Given the description of an element on the screen output the (x, y) to click on. 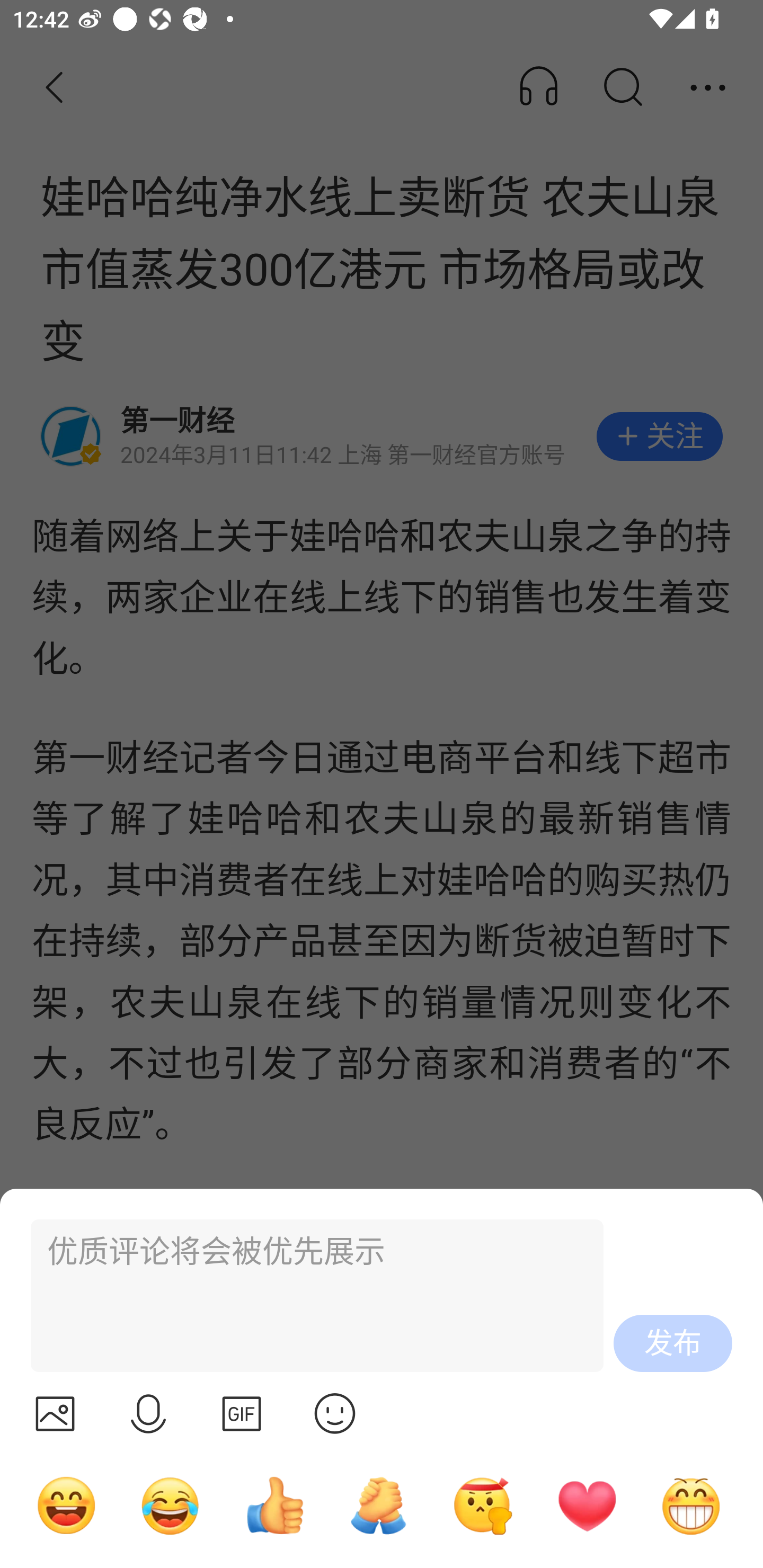
优质评论将会被优先展示 (308, 1295)
发布 (672, 1343)
 (54, 1413)
 (148, 1413)
 (241, 1413)
 (334, 1413)
哈哈 (66, 1505)
哭笑 (170, 1505)
点赞 (274, 1505)
加油 (378, 1505)
奋斗 (482, 1505)
心 (586, 1505)
呲牙 (690, 1505)
